Given the description of an element on the screen output the (x, y) to click on. 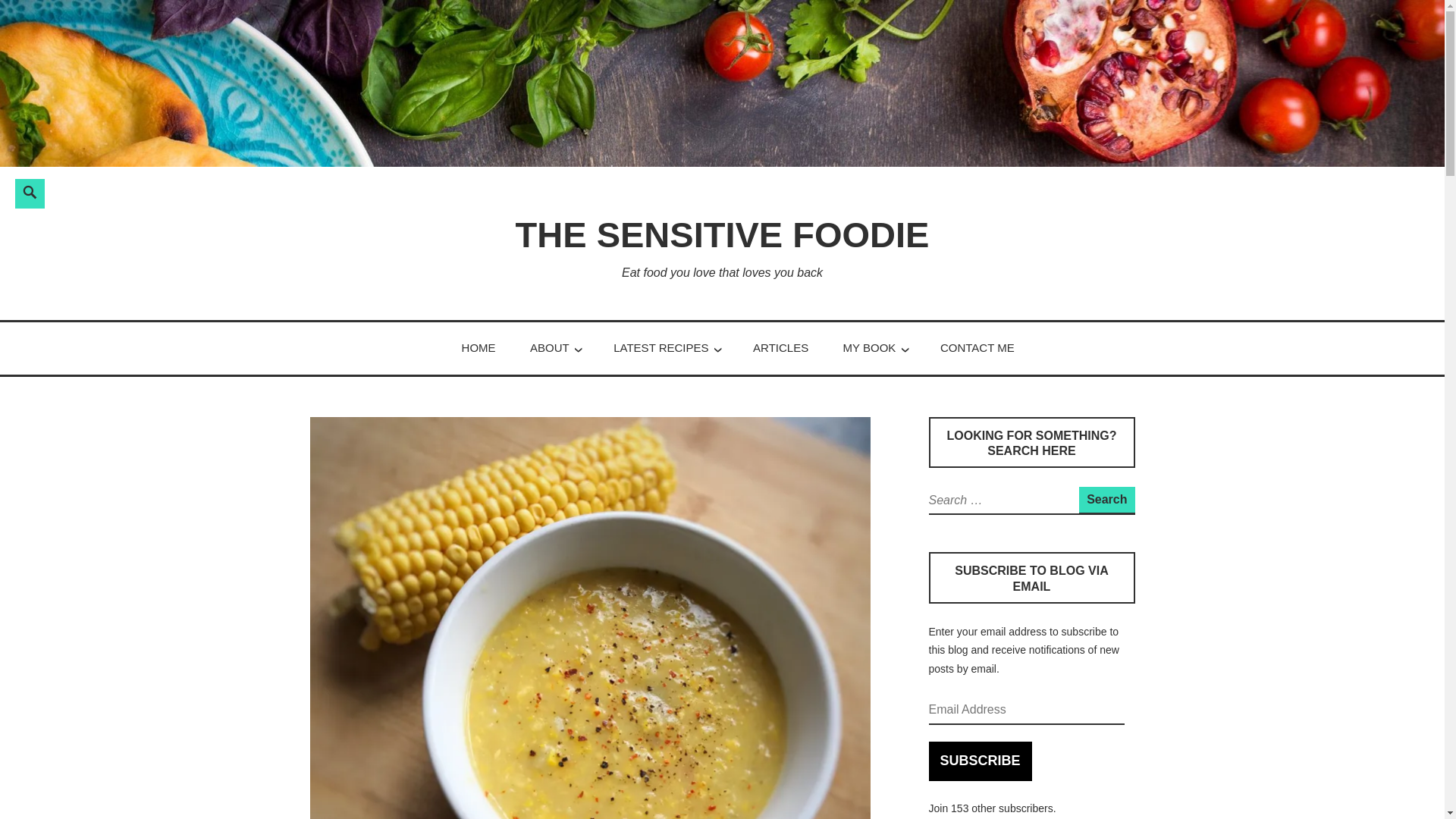
HOME (478, 347)
Search (242, 190)
Search (242, 190)
LATEST RECIPES (659, 347)
Search (1106, 499)
THE SENSITIVE FOODIE (722, 234)
Search (1106, 499)
MY BOOK (869, 347)
ABOUT (549, 347)
CONTACT ME (977, 347)
ARTICLES (780, 347)
Search (242, 190)
